Given the description of an element on the screen output the (x, y) to click on. 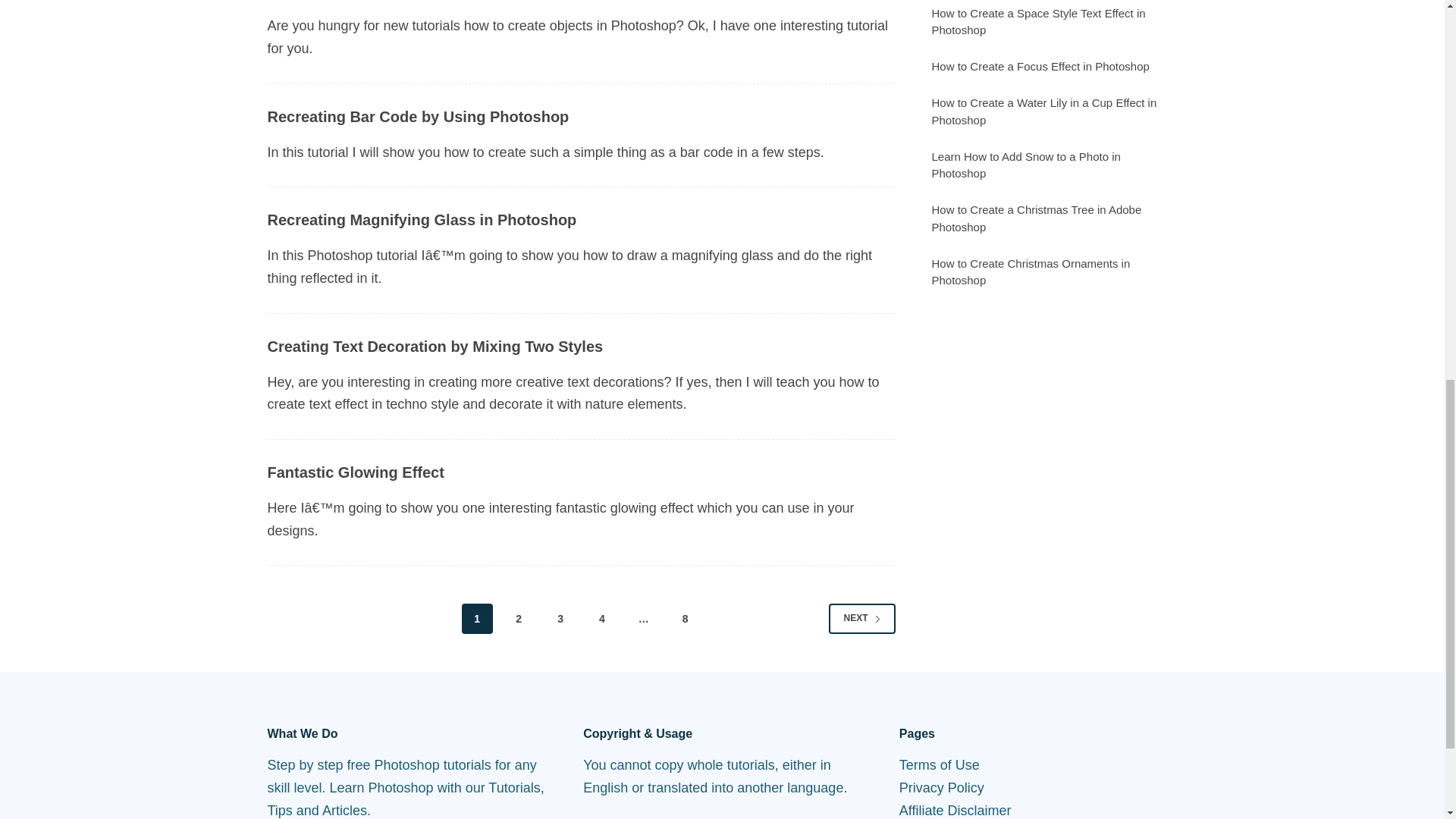
Learn How to Add Snow to a Photo in Photoshop (1025, 164)
How to Create a Focus Effect in Photoshop (1039, 65)
NEXT (861, 618)
Recreating Magnifying Glass in Photoshop (421, 219)
Fantastic Glowing Effect (355, 472)
3 (560, 618)
How to Create a Christmas Tree in Adobe Photoshop (1036, 218)
Recreating Bar Code by Using Photoshop (417, 116)
Creating Text Decoration by Mixing Two Styles (434, 346)
8 (684, 618)
How to Create Christmas Ornaments in Photoshop (1030, 272)
How to Create a Space Style Text Effect in Photoshop (1037, 21)
How to Create a Water Lily in a Cup Effect in Photoshop (1043, 111)
4 (601, 618)
2 (518, 618)
